Given the description of an element on the screen output the (x, y) to click on. 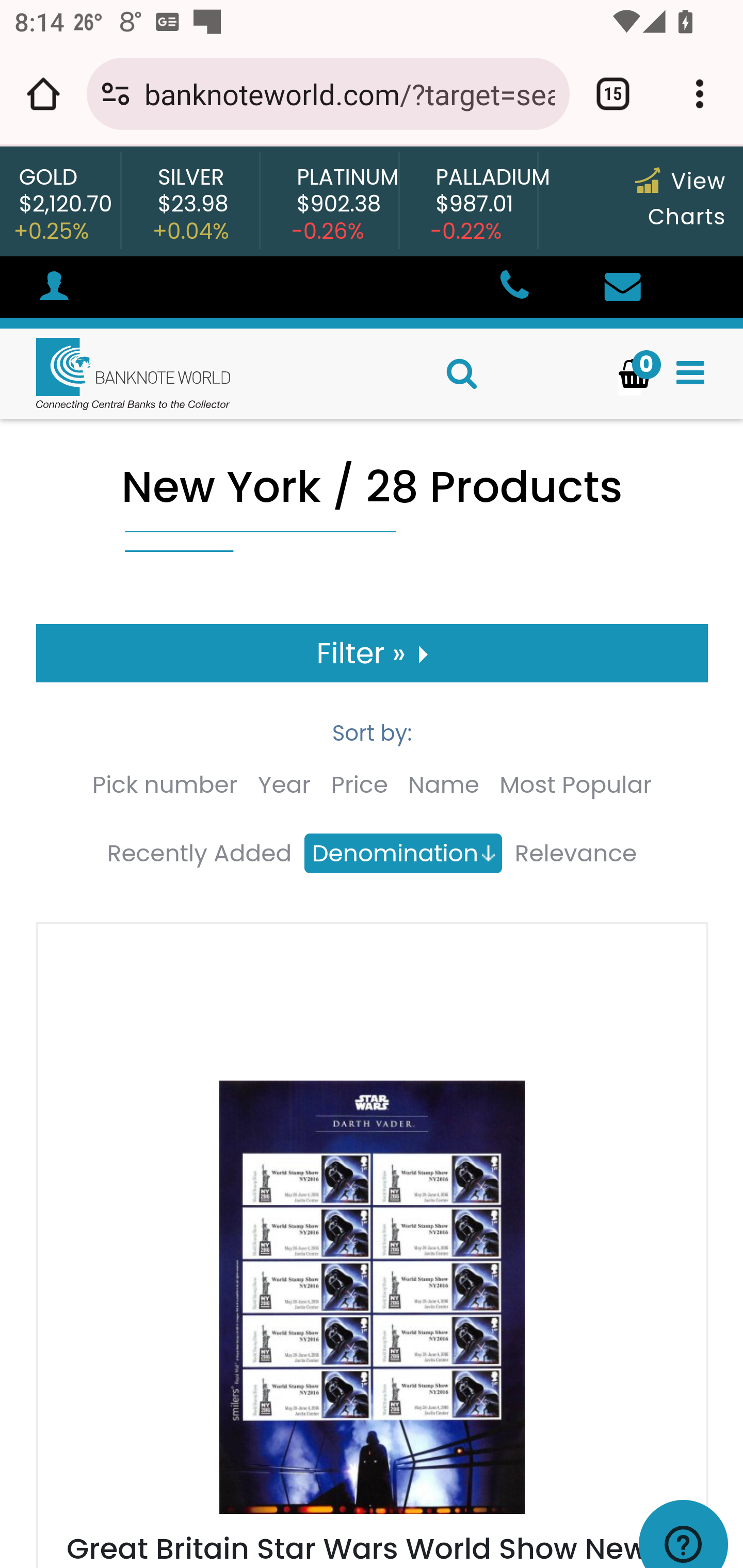
Open the home page (43, 93)
Connection is secure (115, 93)
Switch or close tabs (612, 93)
Customize and control Google Chrome (699, 93)
View Charts (680, 199)
 (513, 287)
 (622, 287)
# (54, 289)
Home (115, 373)
 (690, 373)
Filter »  (372, 652)
Pick number (164, 784)
Year (283, 784)
Price (359, 784)
Name (444, 784)
Most Popular (576, 784)
Recently Added (198, 853)
Denomination (402, 853)
Relevance (574, 853)
